Given the description of an element on the screen output the (x, y) to click on. 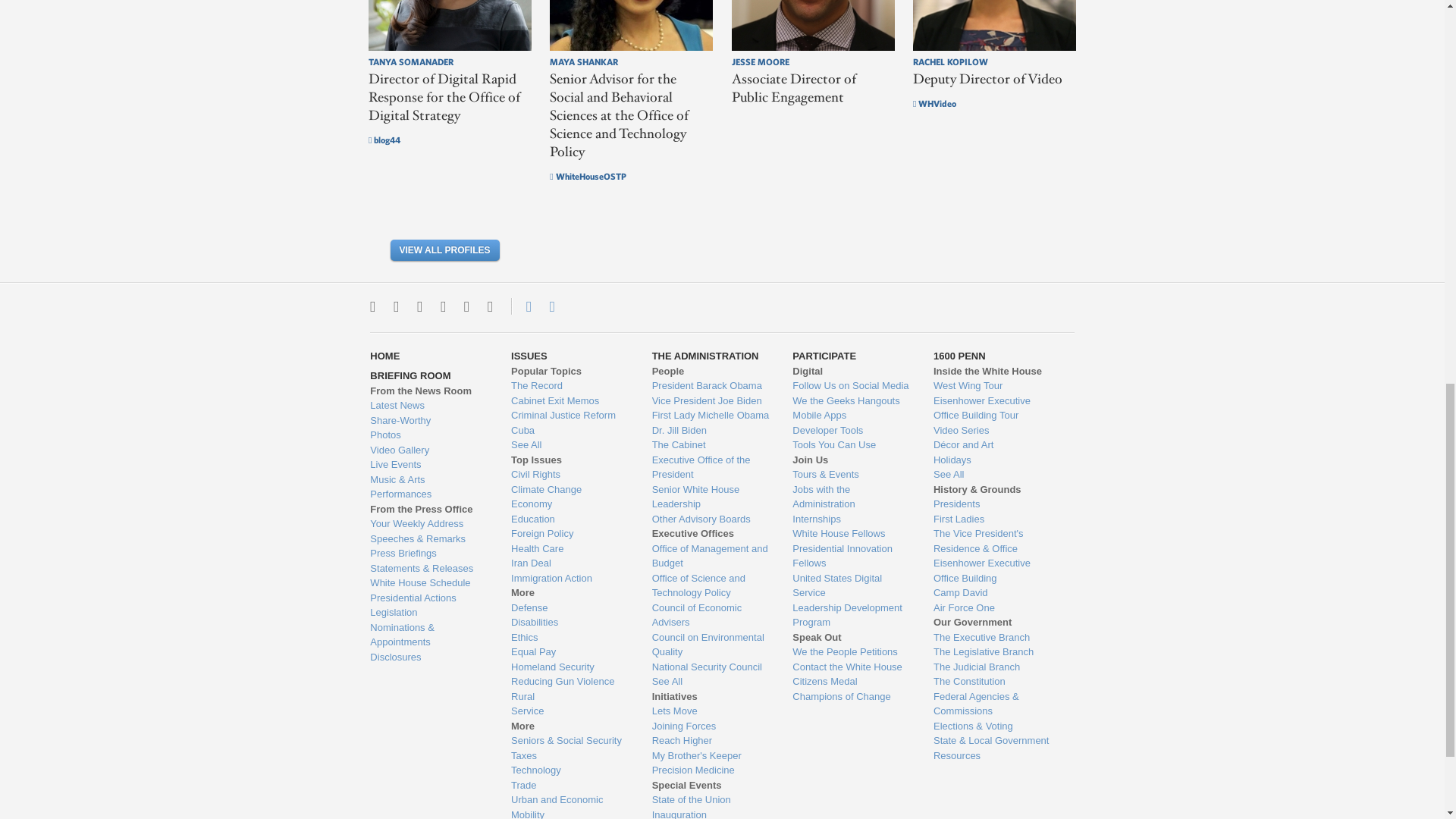
Check out the most popular infographics and videos (428, 420)
Contact the Whitehouse. (521, 306)
Read the latest blog posts from 1600 Pennsylvania Ave (428, 405)
View the photo of the day and other galleries (428, 435)
Maya Shankar (631, 25)
